Given the description of an element on the screen output the (x, y) to click on. 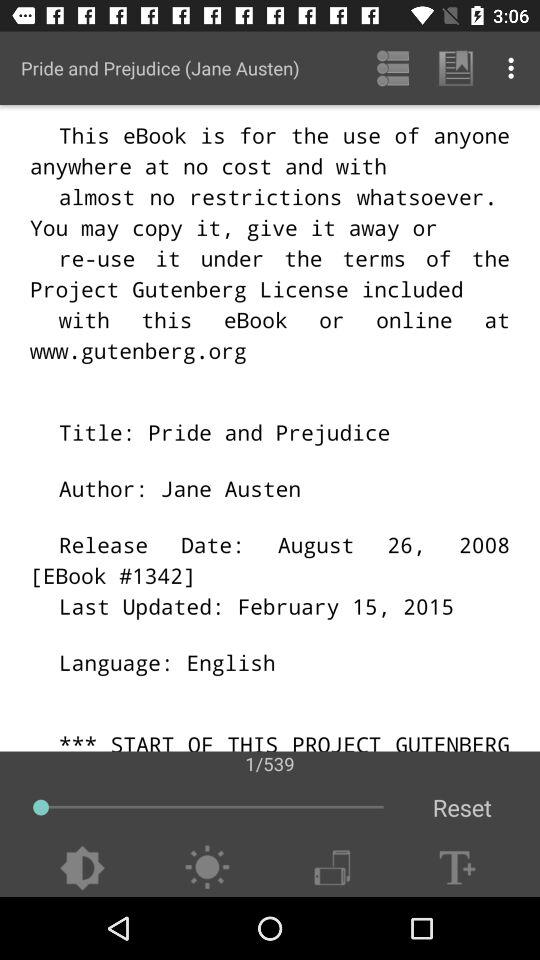
launch app to the right of the pride and prejudice icon (392, 67)
